Given the description of an element on the screen output the (x, y) to click on. 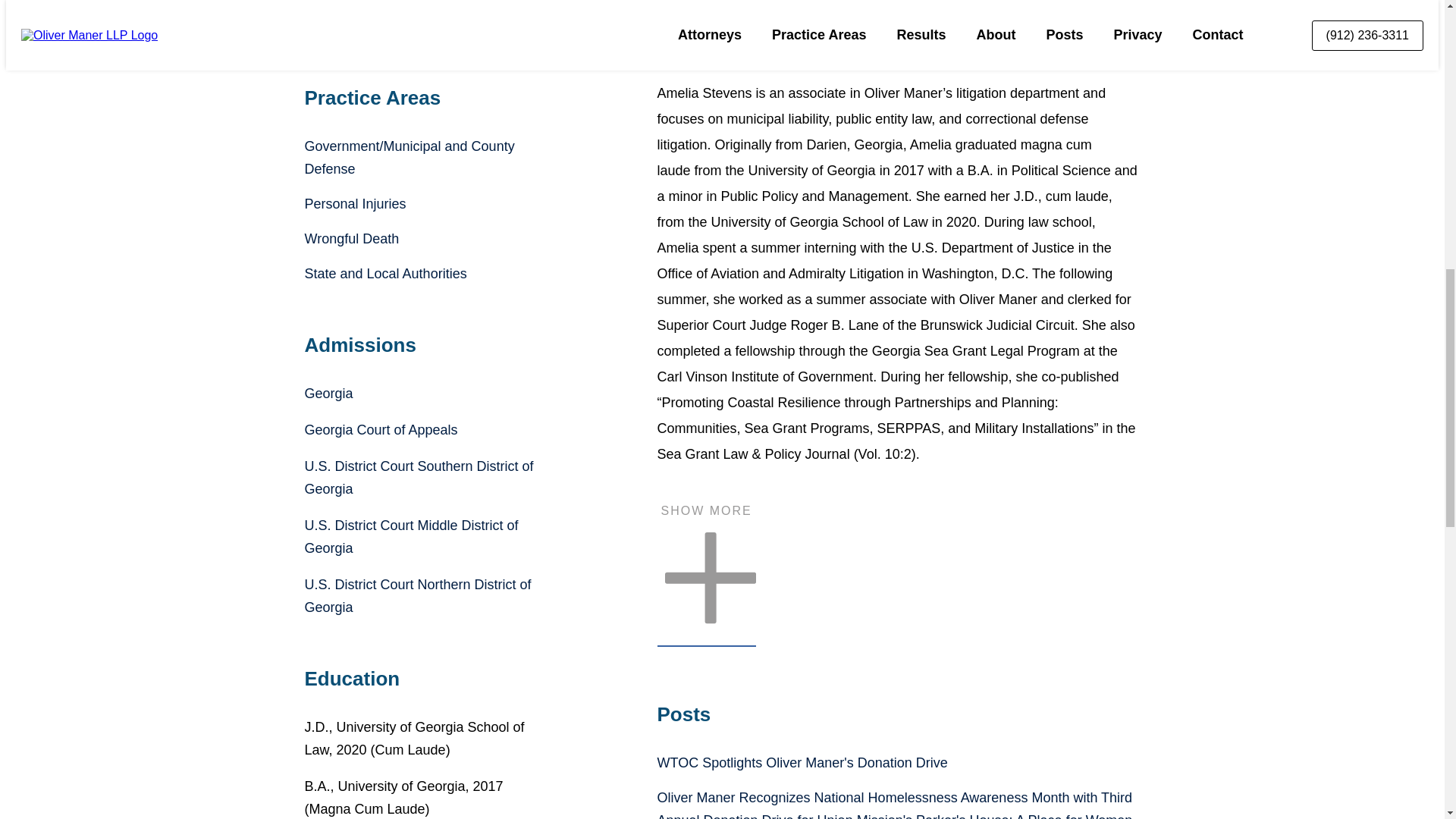
State and Local Authorities (385, 273)
WTOC Spotlights Oliver Maner's Donation Drive (801, 762)
SHOW MORE (705, 576)
Personal Injuries (355, 203)
Wrongful Death (351, 238)
